Given the description of an element on the screen output the (x, y) to click on. 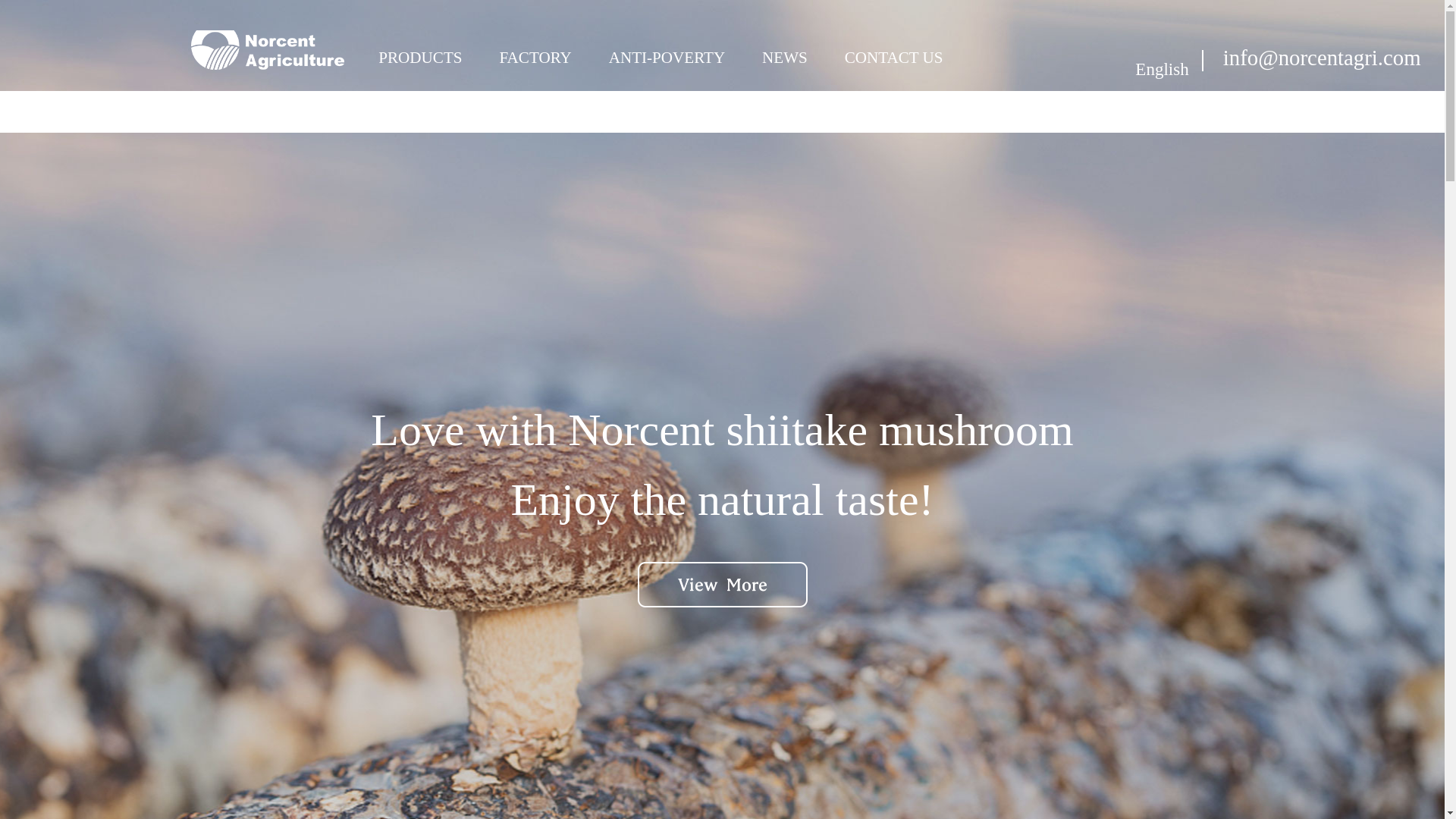
ANTI-POVERTY (895, 45)
PRODUCTS (668, 45)
NEWS (421, 45)
FACTORY (785, 45)
